Given the description of an element on the screen output the (x, y) to click on. 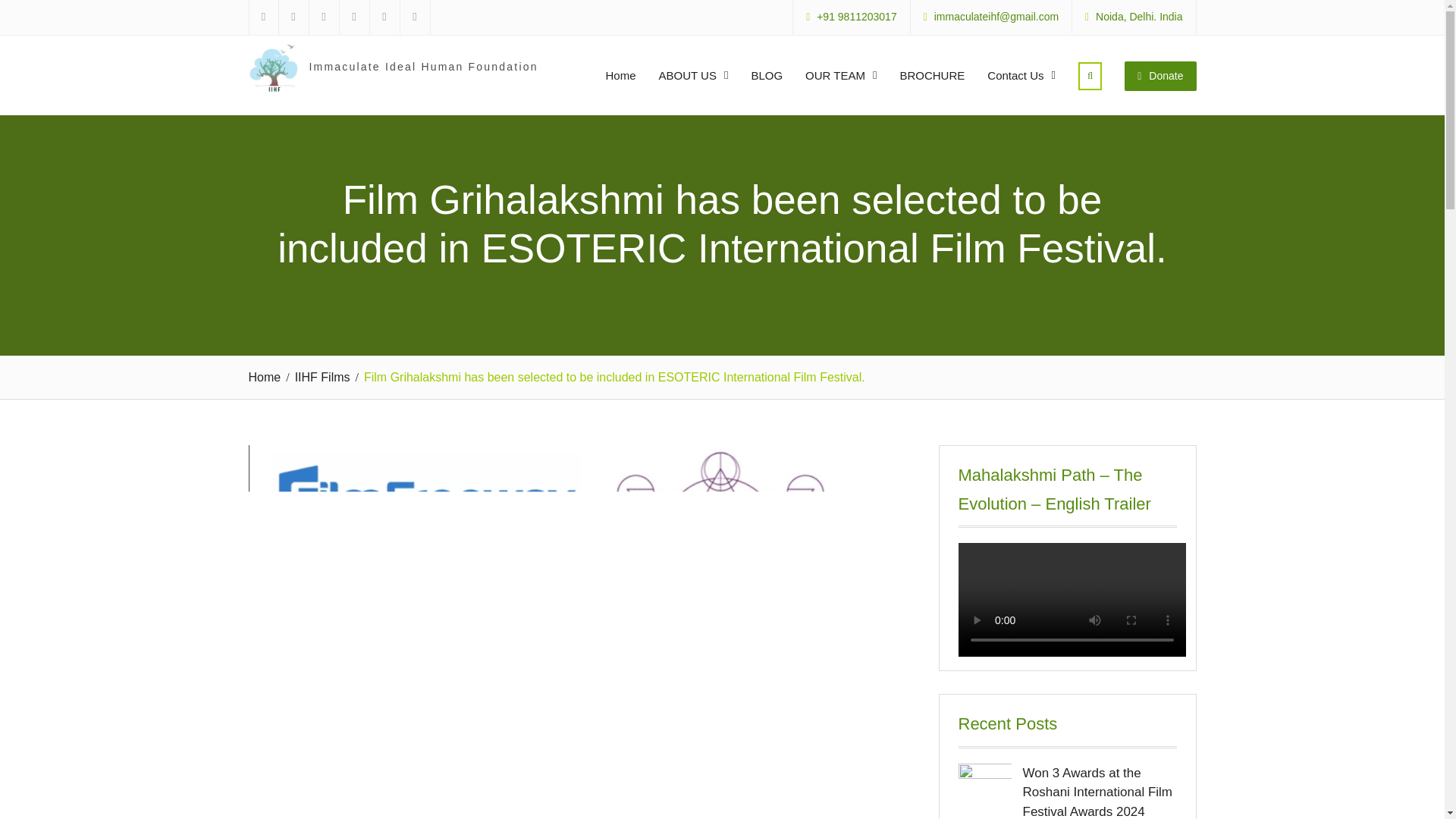
ABOUT US (692, 74)
Donate (1159, 75)
